Given the description of an element on the screen output the (x, y) to click on. 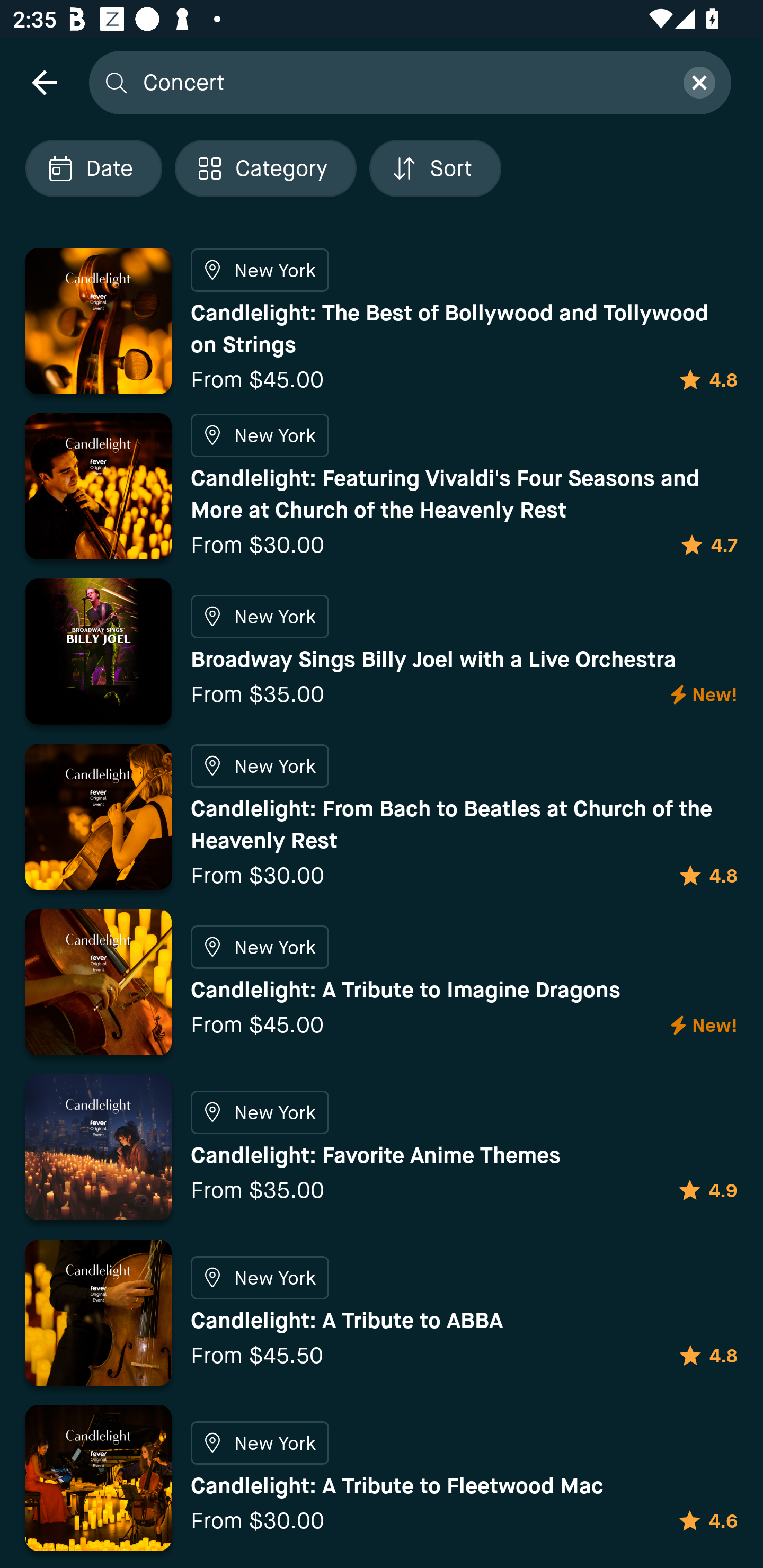
navigation icon (44, 81)
Concert (402, 81)
Localized description Date (93, 168)
Localized description Category (265, 168)
Localized description Sort (435, 168)
